Given the description of an element on the screen output the (x, y) to click on. 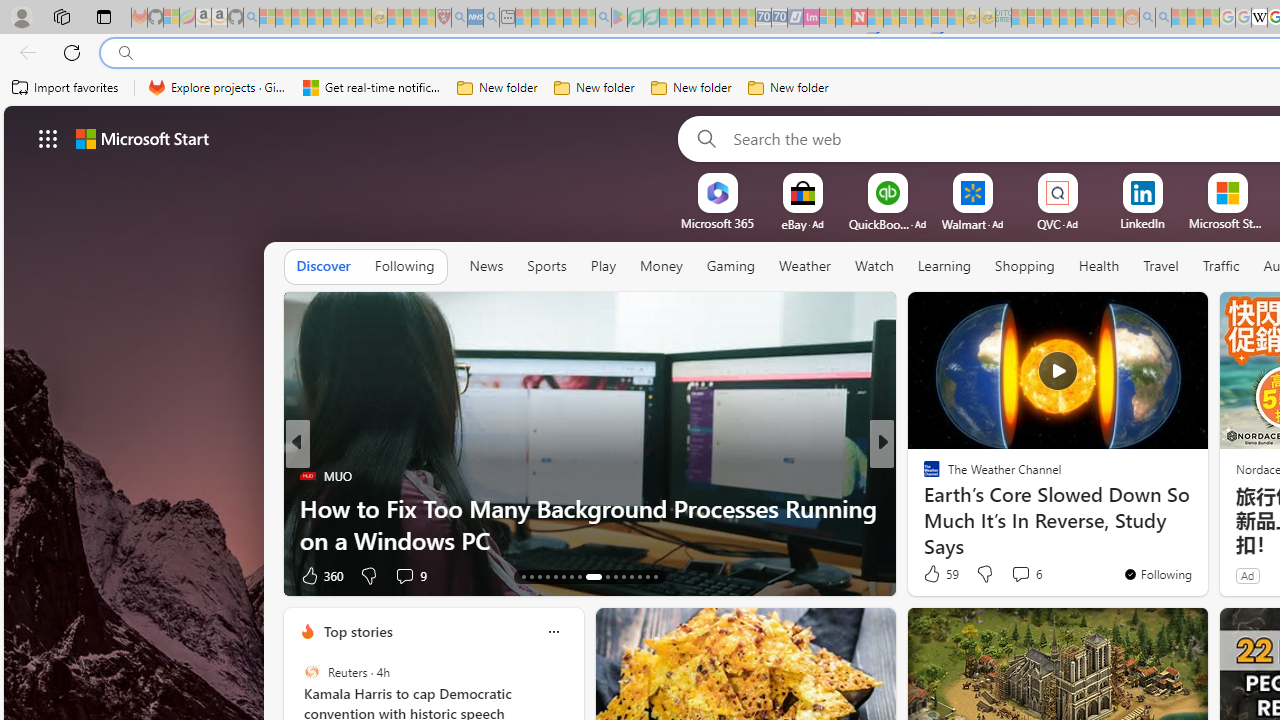
New folder (788, 88)
View comments 6 Comment (1019, 573)
Travel (1160, 265)
View comments 9 Comment (404, 575)
Local - MSN - Sleeping (427, 17)
App launcher (47, 138)
Target page - Wikipedia (1259, 17)
Shopping (1025, 265)
